Given the description of an element on the screen output the (x, y) to click on. 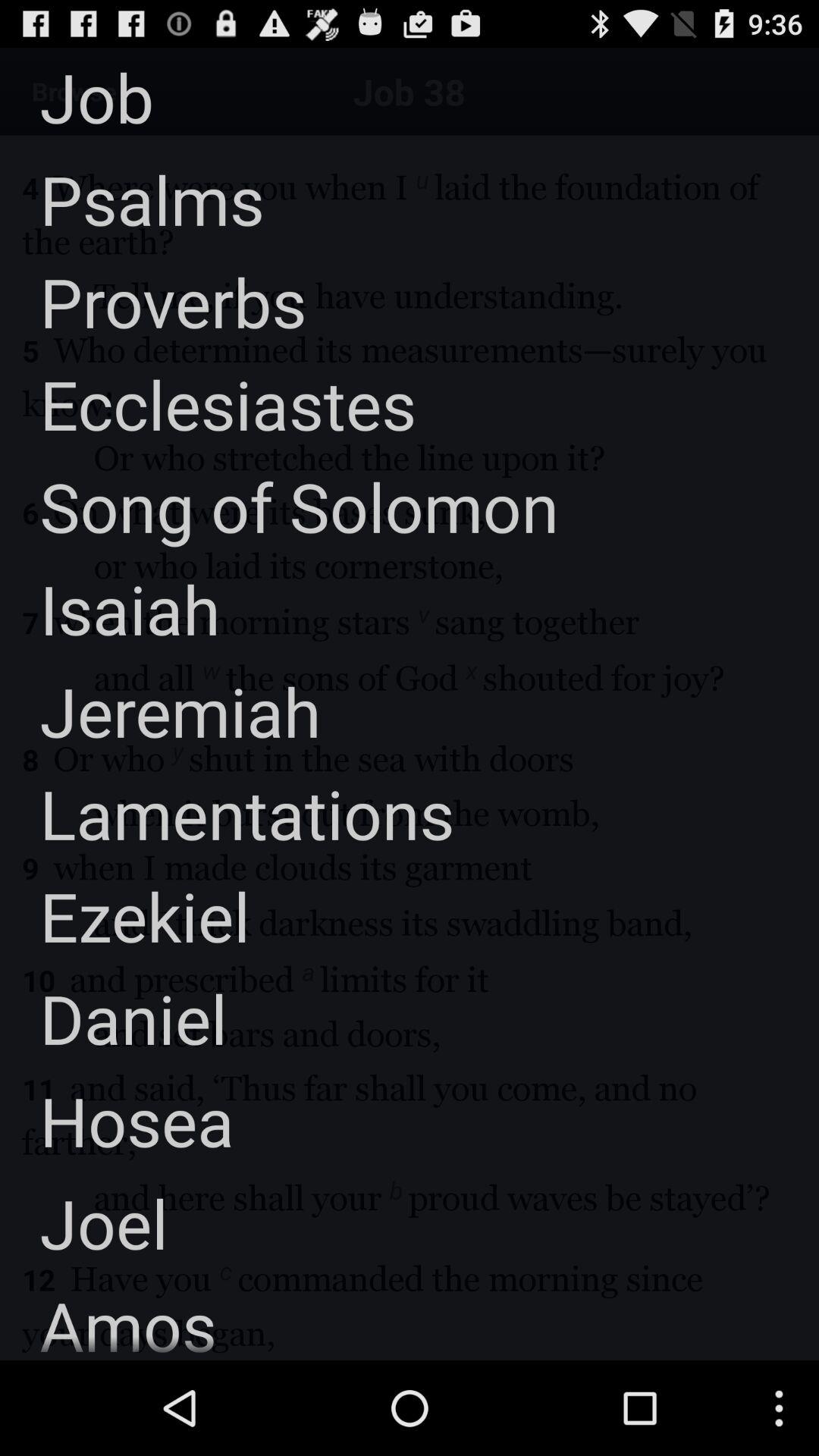
select item above joel app (117, 1120)
